Given the description of an element on the screen output the (x, y) to click on. 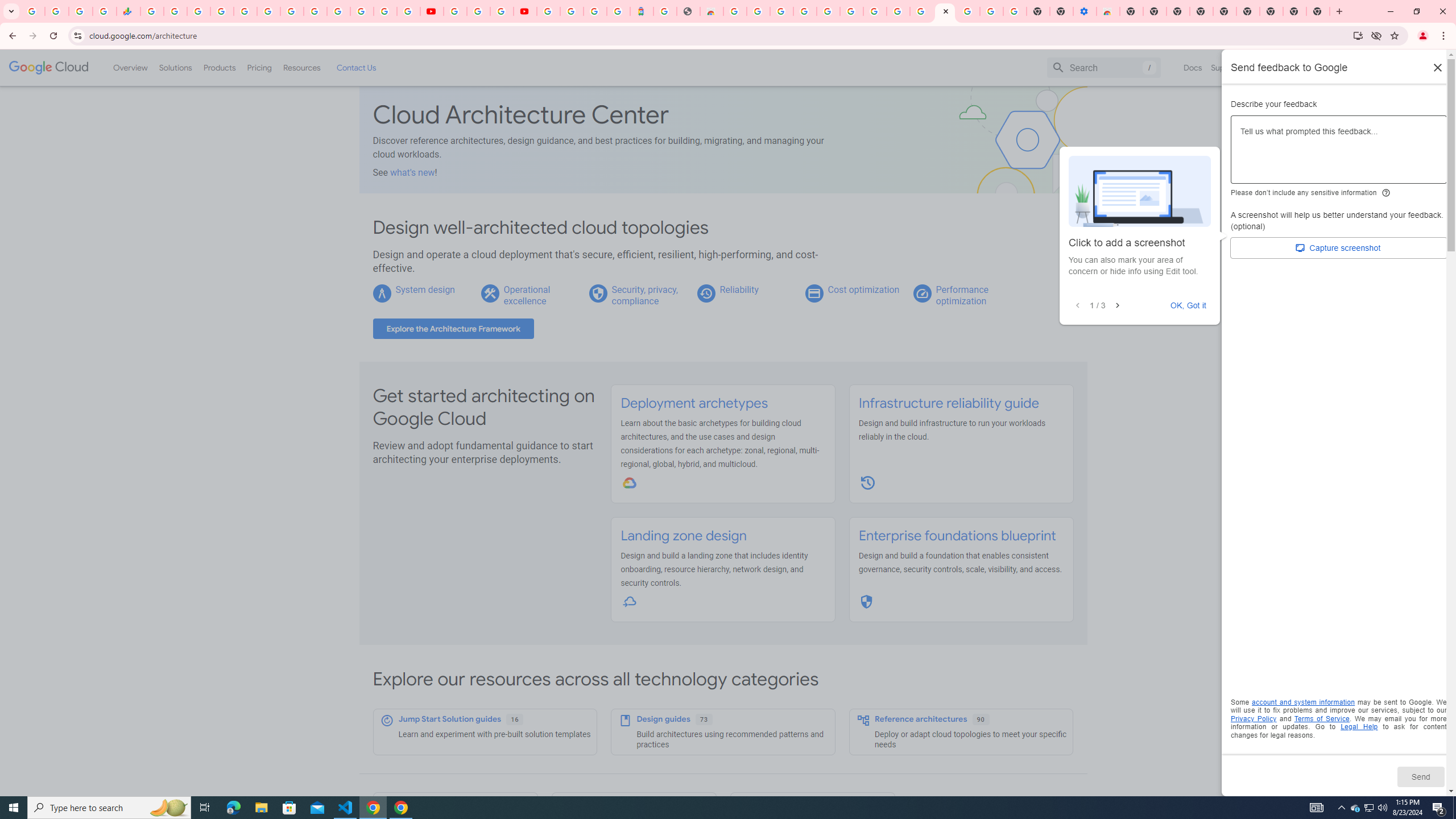
Google Cloud (48, 67)
Resources (301, 67)
Explore the Architecture Framework (453, 328)
Cost optimization (863, 289)
Android TV Policies and Guidelines - Transparency Center (291, 11)
Google Account Help (850, 11)
Chrome Web Store - Household (711, 11)
Send (1420, 776)
Search (1103, 67)
Opens in a new tab. Legal Help (1358, 727)
